Given the description of an element on the screen output the (x, y) to click on. 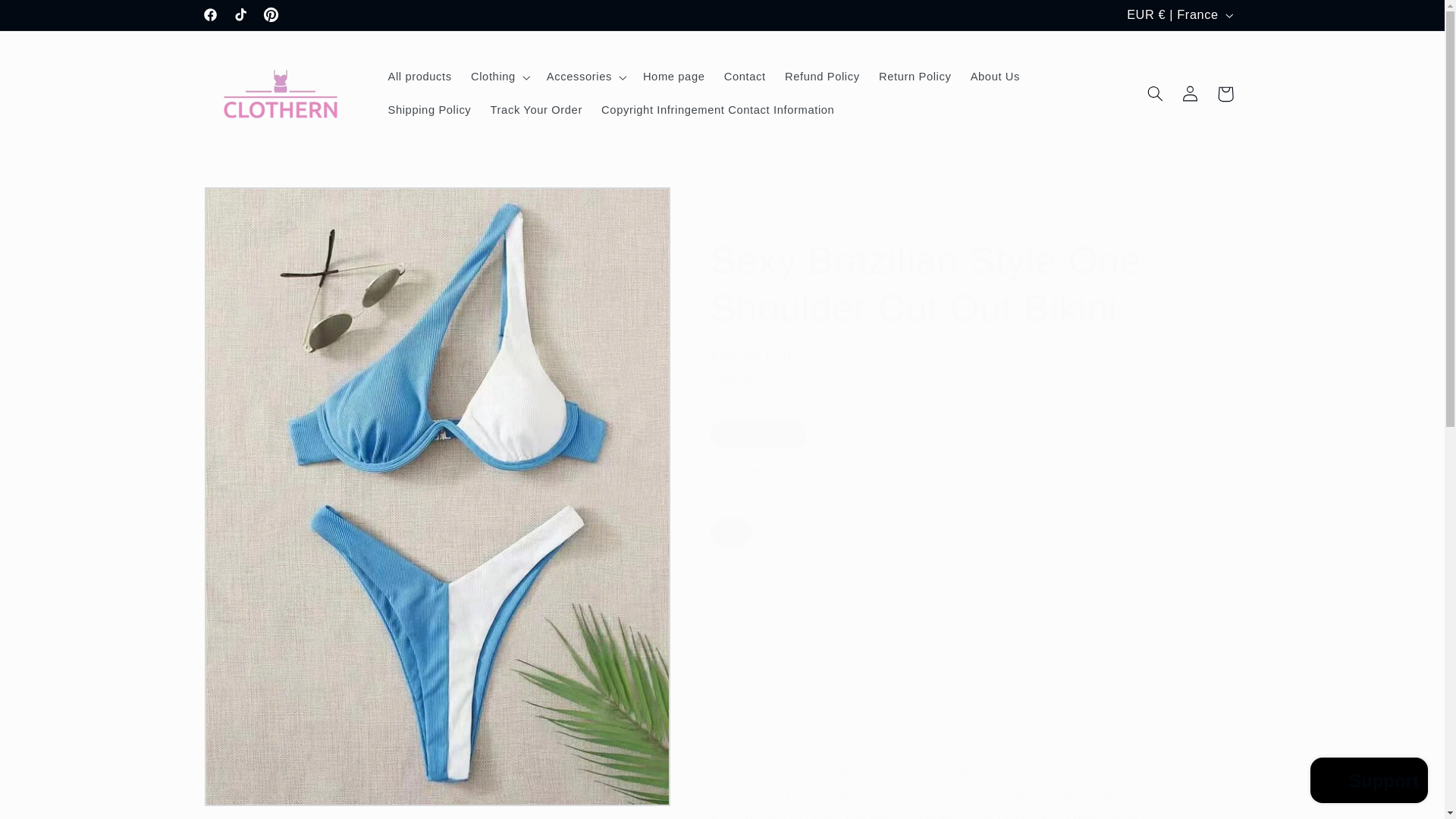
Skip to content (48, 18)
TikTok (240, 15)
Pinterest (270, 15)
Facebook (210, 15)
